Given the description of an element on the screen output the (x, y) to click on. 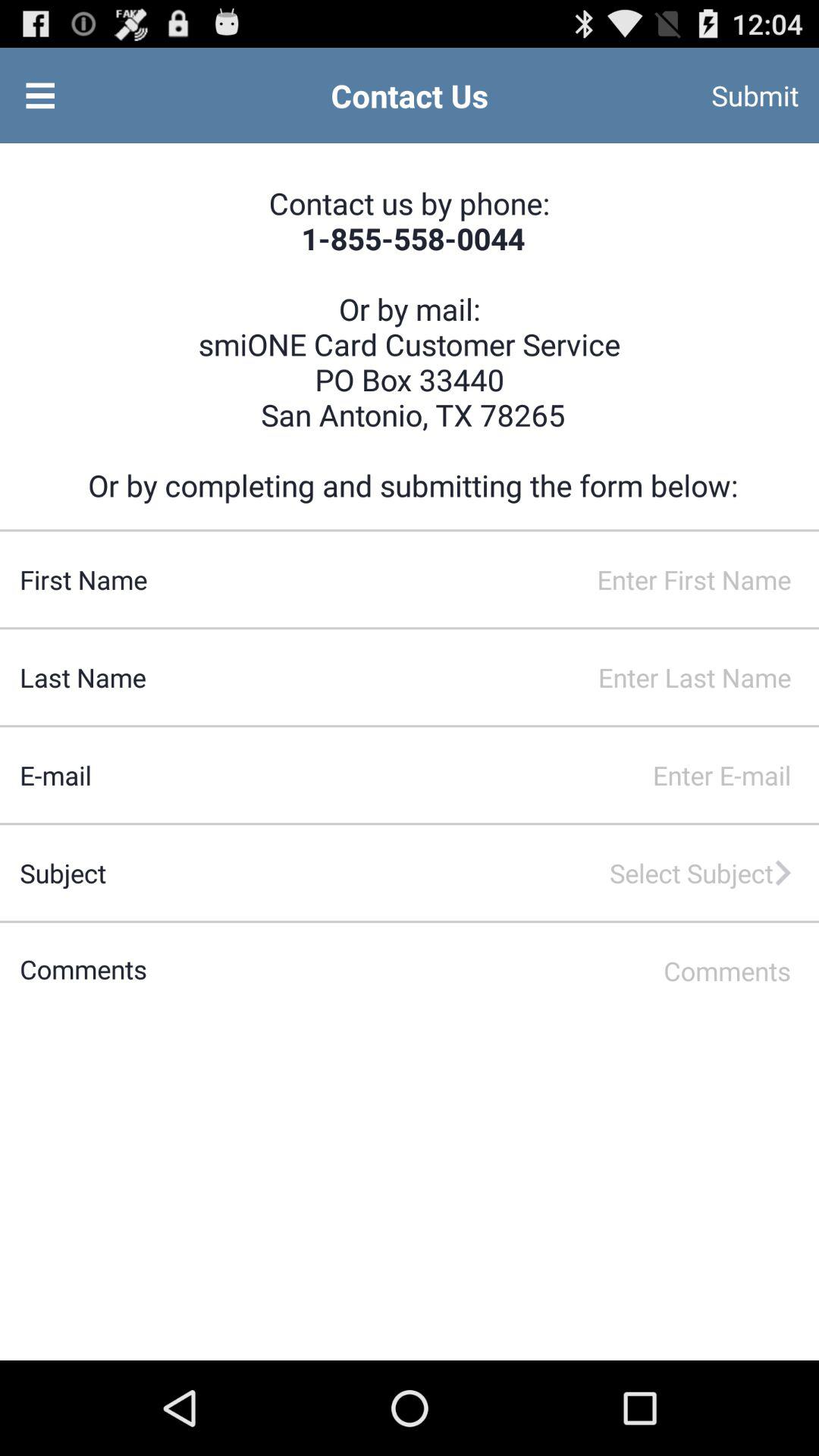
enter last name (482, 676)
